Given the description of an element on the screen output the (x, y) to click on. 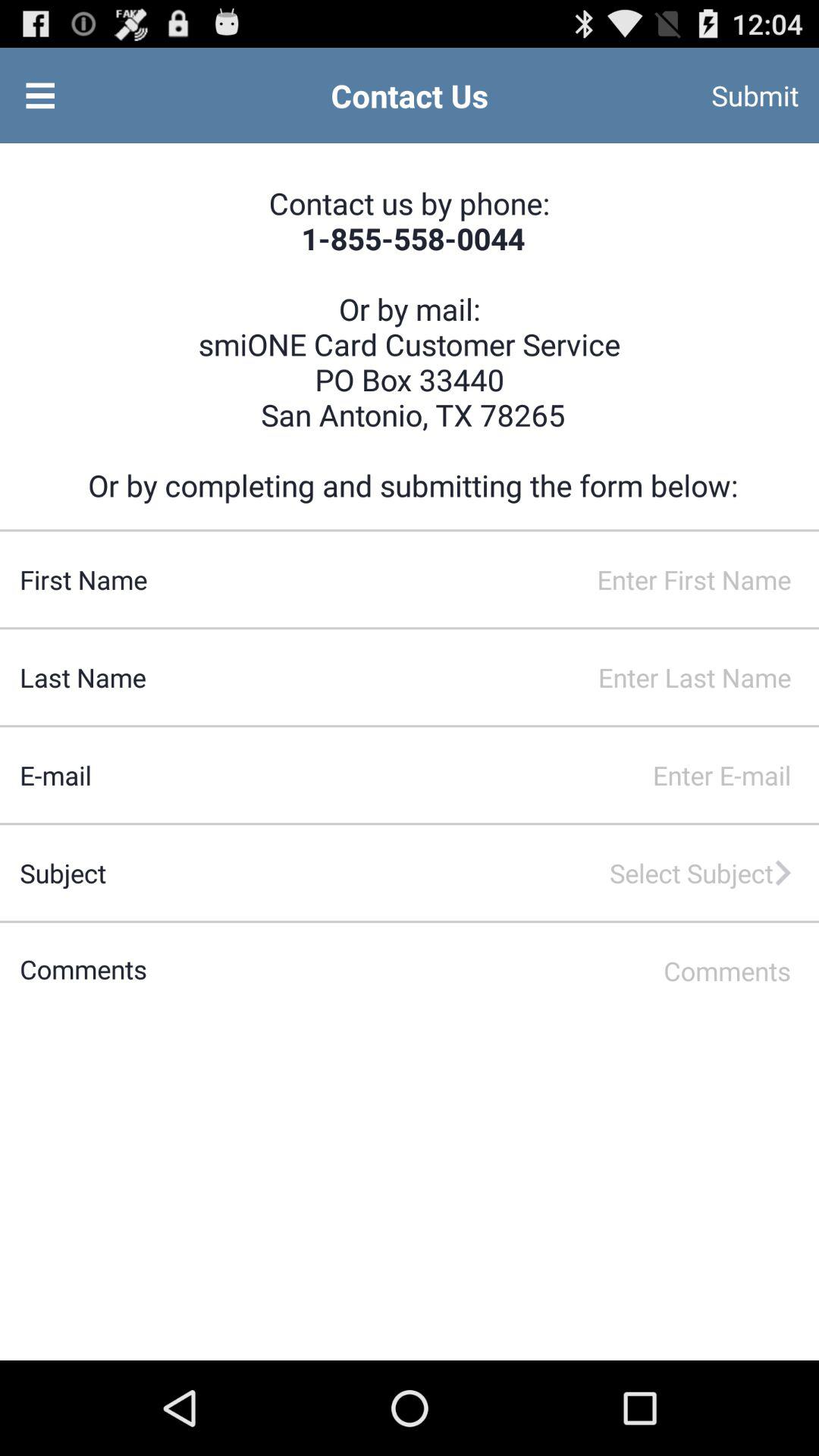
enter last name (482, 676)
